Given the description of an element on the screen output the (x, y) to click on. 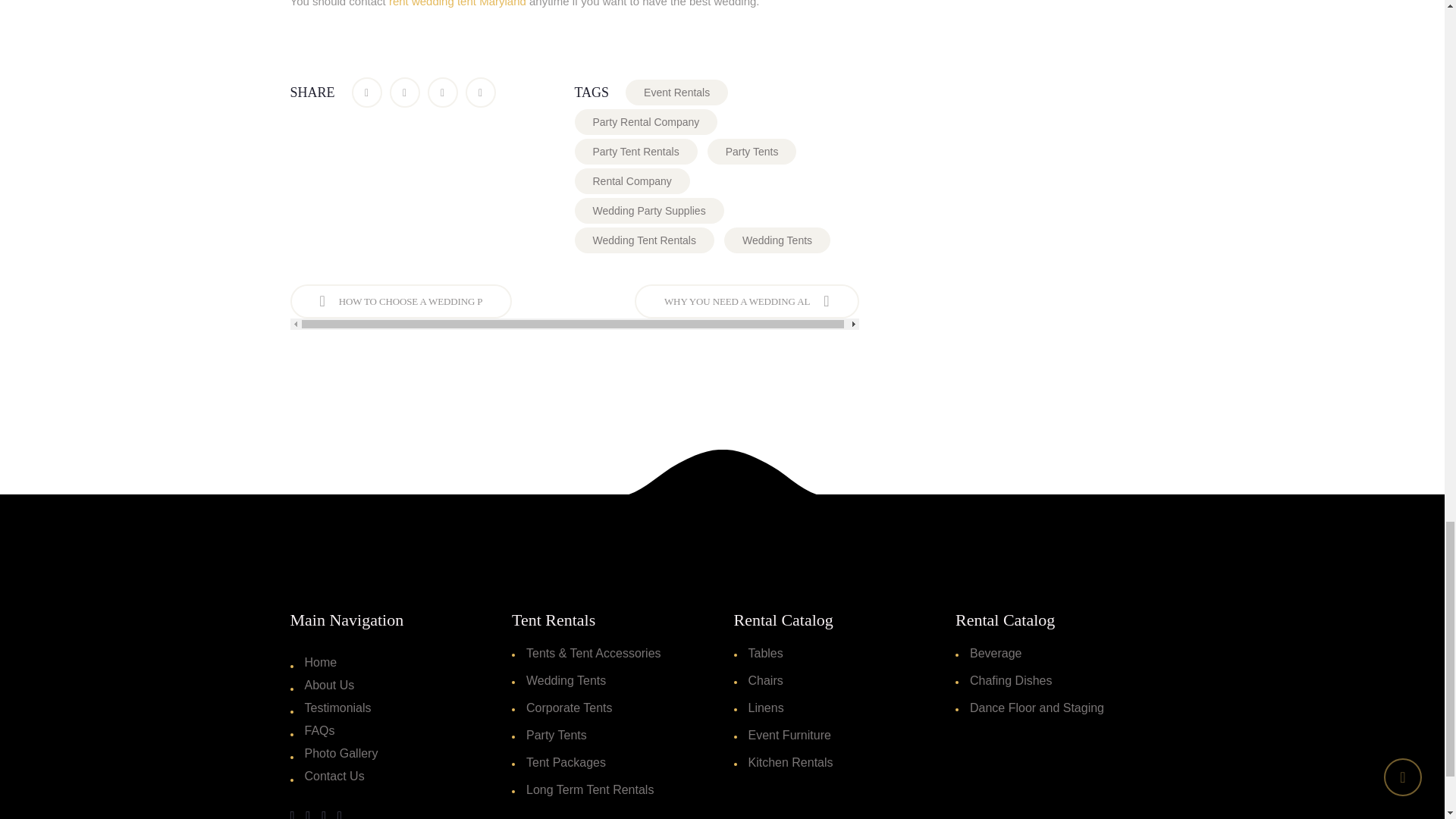
Pinterest (480, 91)
Facebook (366, 91)
Google Plus (443, 91)
Twitter (405, 91)
rent wedding tent Maryland (456, 3)
